Given the description of an element on the screen output the (x, y) to click on. 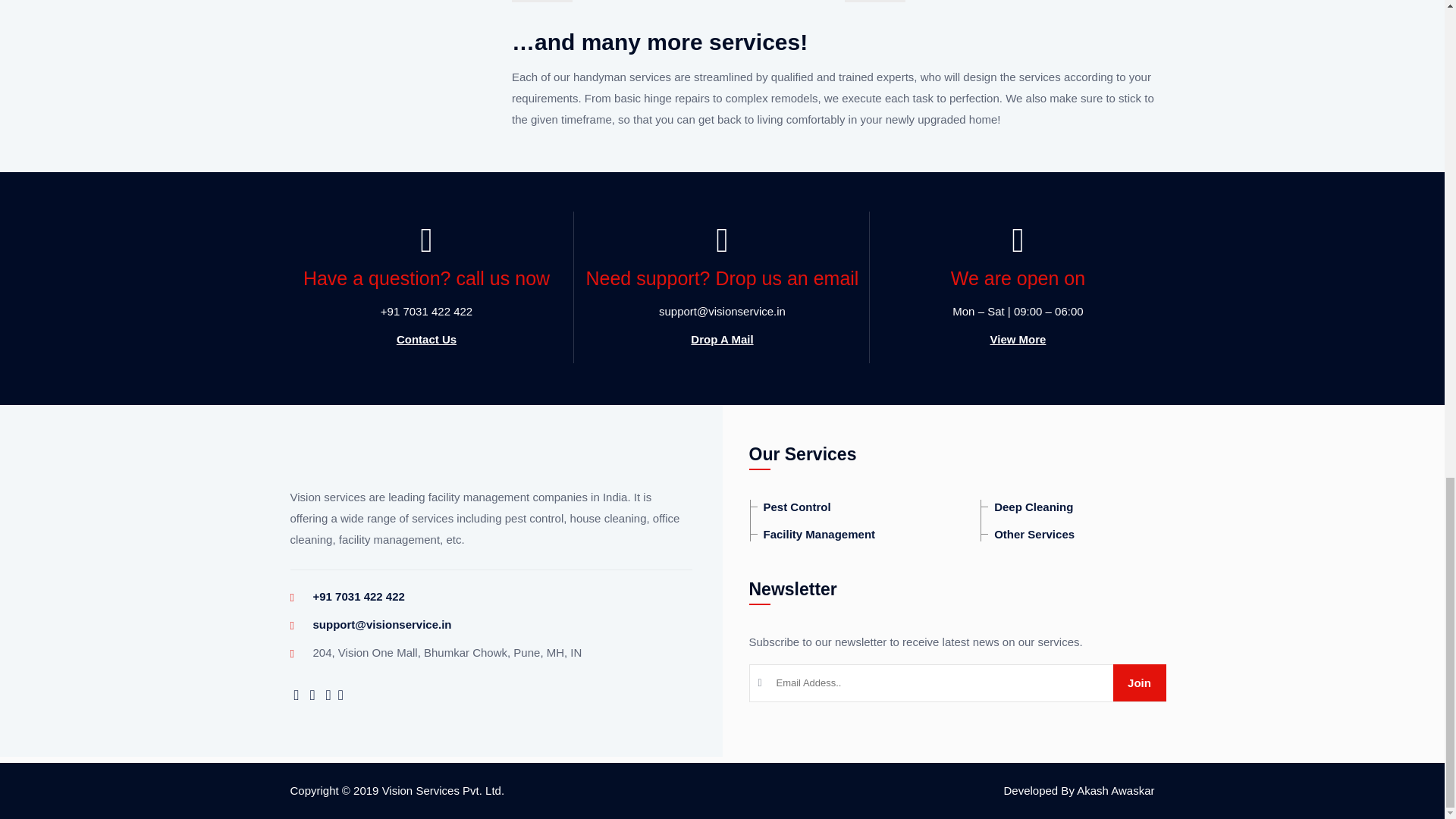
Pest Control (790, 506)
Drop A Mail (721, 339)
Other Services (1026, 533)
Vision Services Pvt. Ltd. (442, 789)
Contact Us (426, 339)
Akash Awaskar (1115, 789)
Deep Cleaning (1026, 506)
Send (1139, 682)
Join (1139, 682)
View More (1018, 339)
Facility Management (812, 533)
